Given the description of an element on the screen output the (x, y) to click on. 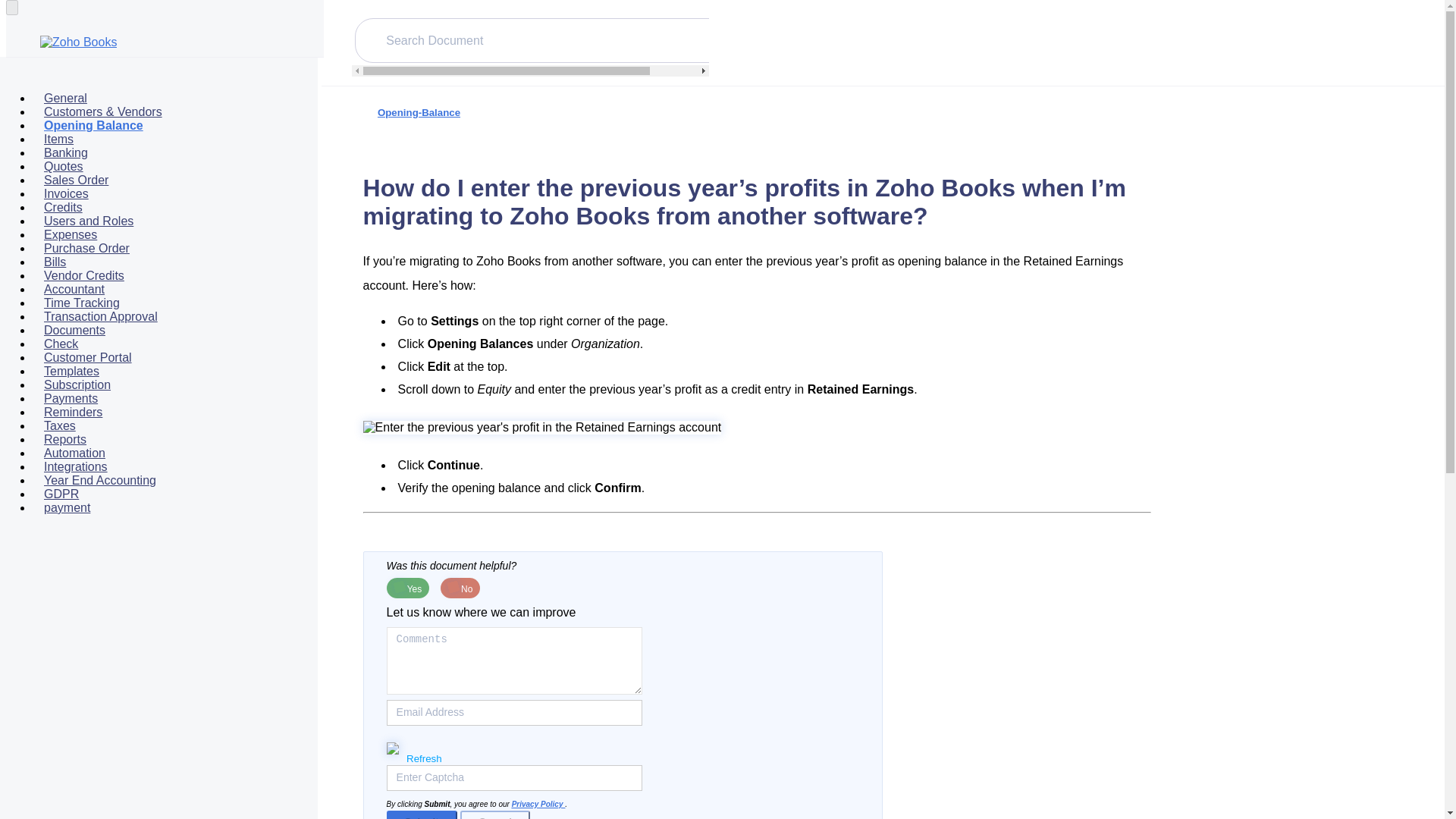
General (65, 97)
Print this page (1396, 124)
Opening Balance (93, 125)
Items (58, 138)
